Given the description of an element on the screen output the (x, y) to click on. 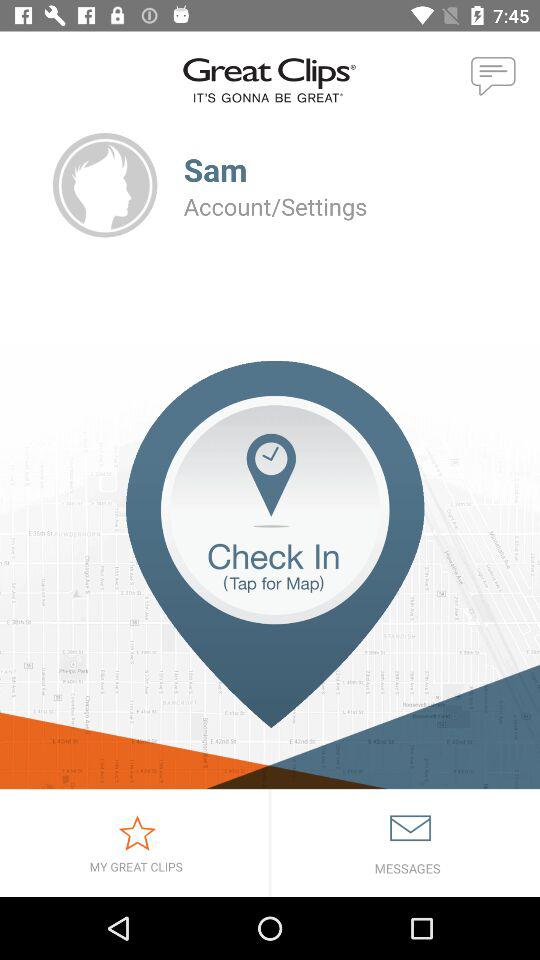
chat menu (494, 77)
